Given the description of an element on the screen output the (x, y) to click on. 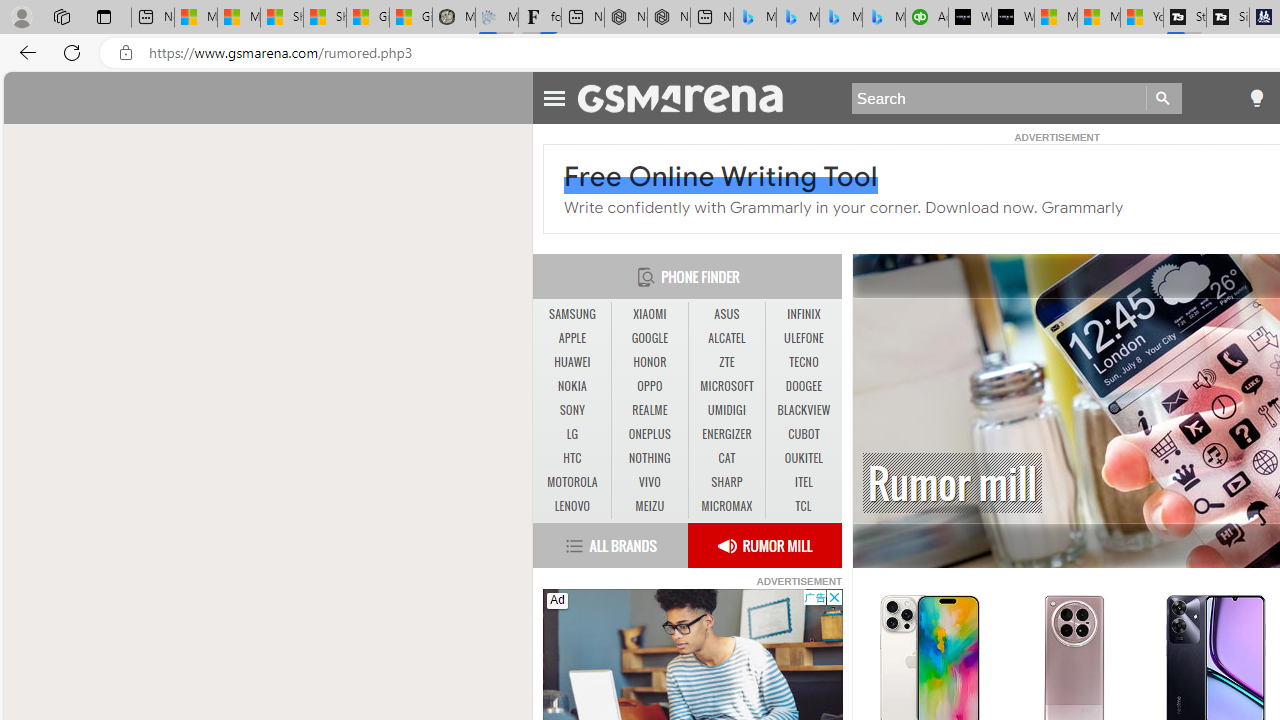
ULEFONE (803, 338)
REALME (649, 410)
MEIZU (649, 506)
Manatee Mortality Statistics | FWC (453, 17)
TECNO (803, 362)
XIAOMI (649, 313)
SAMSUNG (571, 313)
ALCATEL (726, 339)
MICROSOFT (726, 386)
GOOGLE (649, 339)
OPPO (649, 386)
Streaming Coverage | T3 (1184, 17)
